Given the description of an element on the screen output the (x, y) to click on. 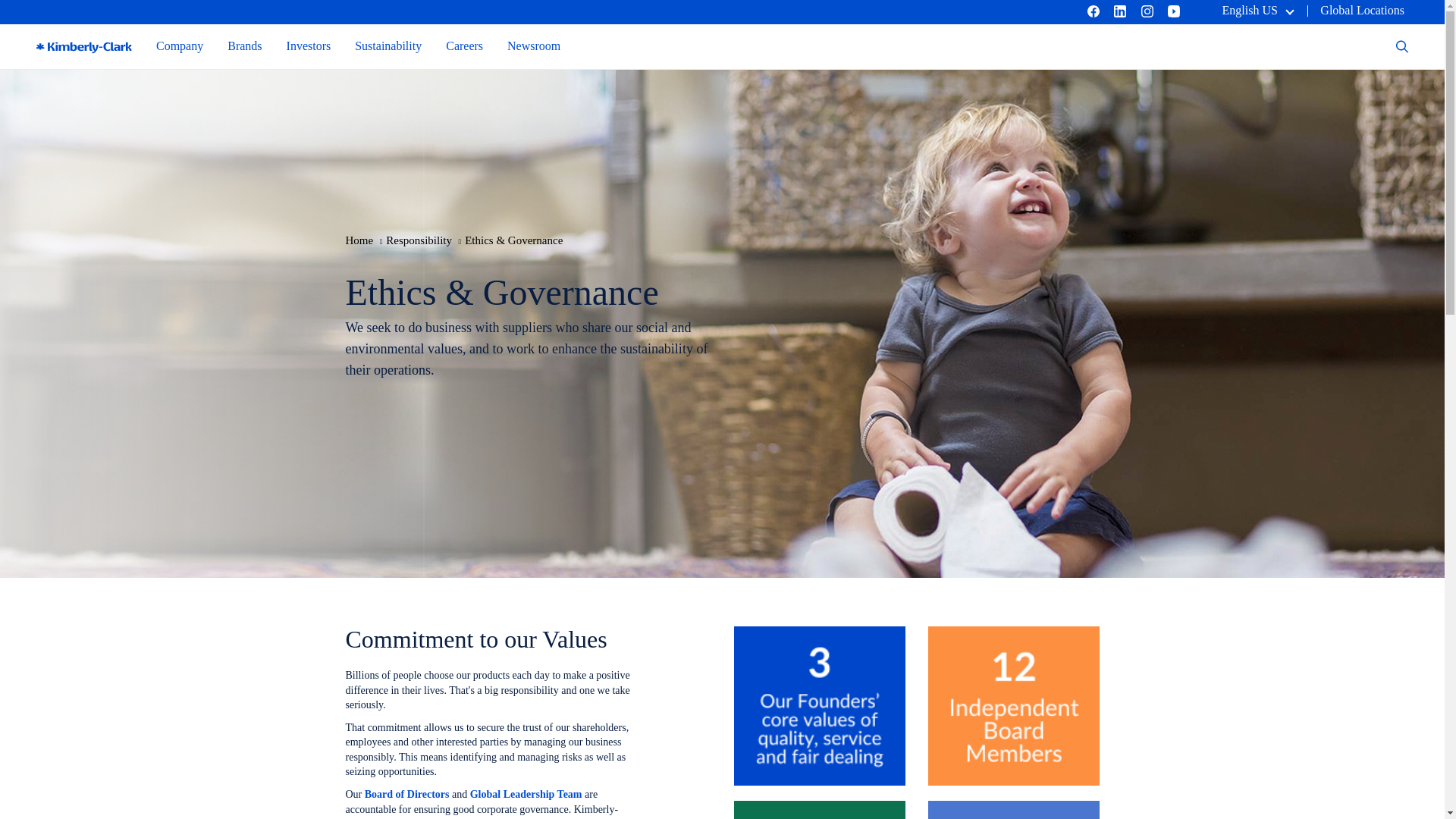
Company (179, 45)
Global Locations (1362, 10)
English US (1257, 10)
